Given the description of an element on the screen output the (x, y) to click on. 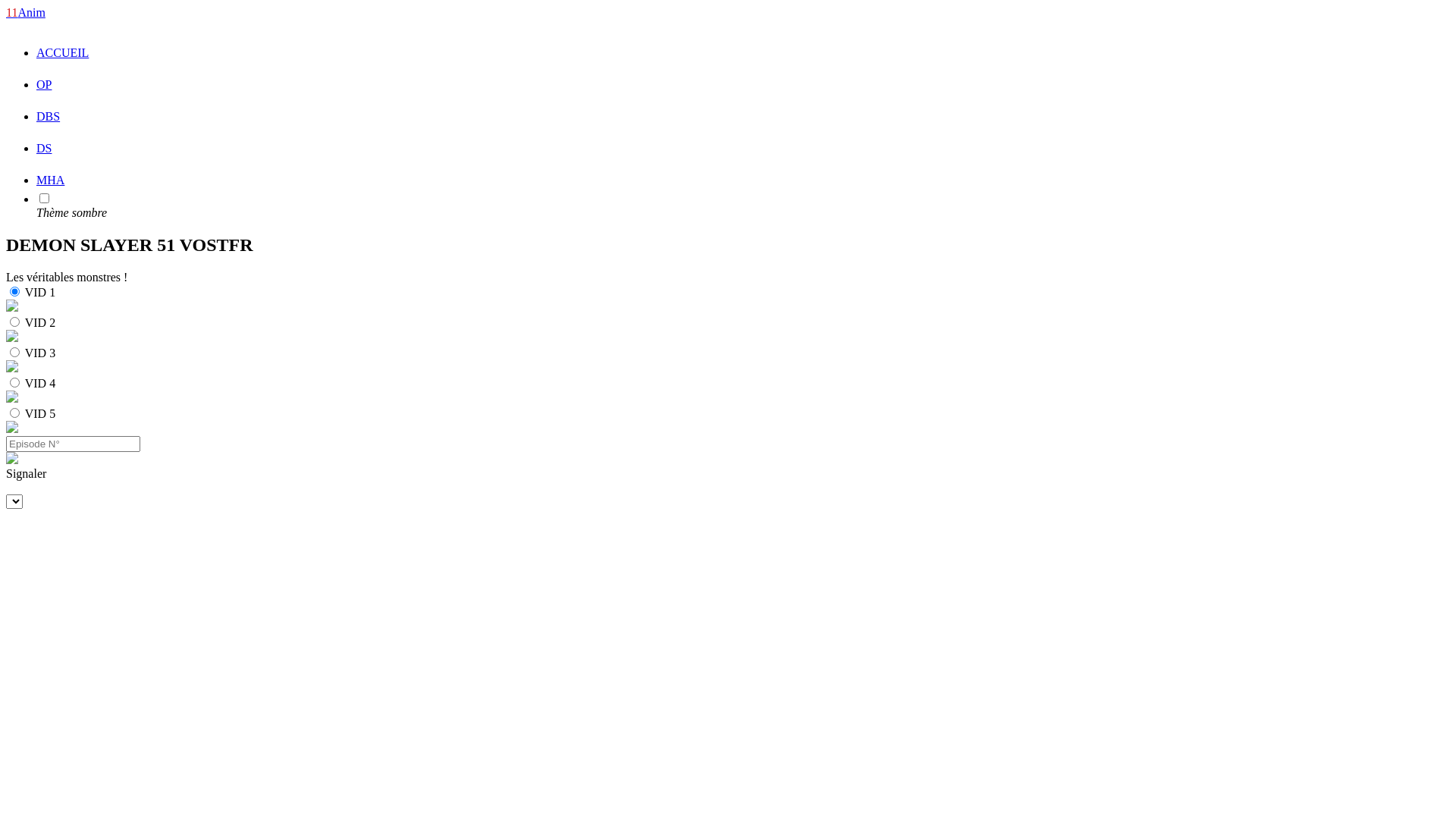
DBS Element type: text (47, 115)
OP Element type: text (43, 84)
11Anim Element type: text (25, 12)
ACCUEIL Element type: text (62, 52)
Signaler Element type: text (727, 473)
MHA Element type: text (50, 179)
DS Element type: text (43, 147)
